Given the description of an element on the screen output the (x, y) to click on. 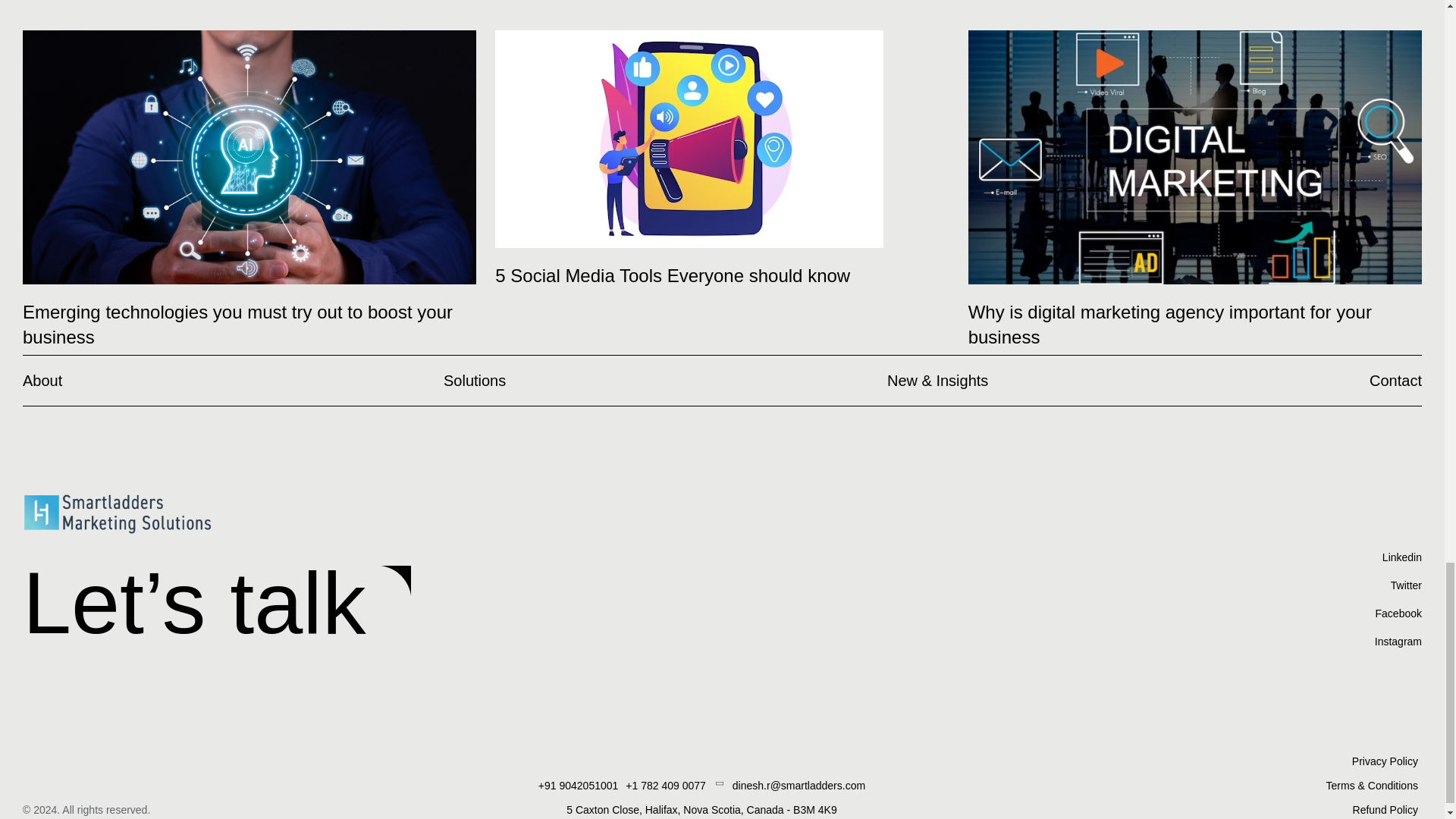
Instagram (1398, 642)
Privacy Policy (1385, 760)
About (42, 380)
Facebook (1398, 613)
Contact (1398, 599)
Why is digital marketing agency important for your business (1396, 380)
Refund Policy (1169, 325)
Linkedin (1385, 809)
5 Social Media Tools Everyone should know (1398, 557)
Solutions (672, 275)
Twitter (474, 380)
